Given the description of an element on the screen output the (x, y) to click on. 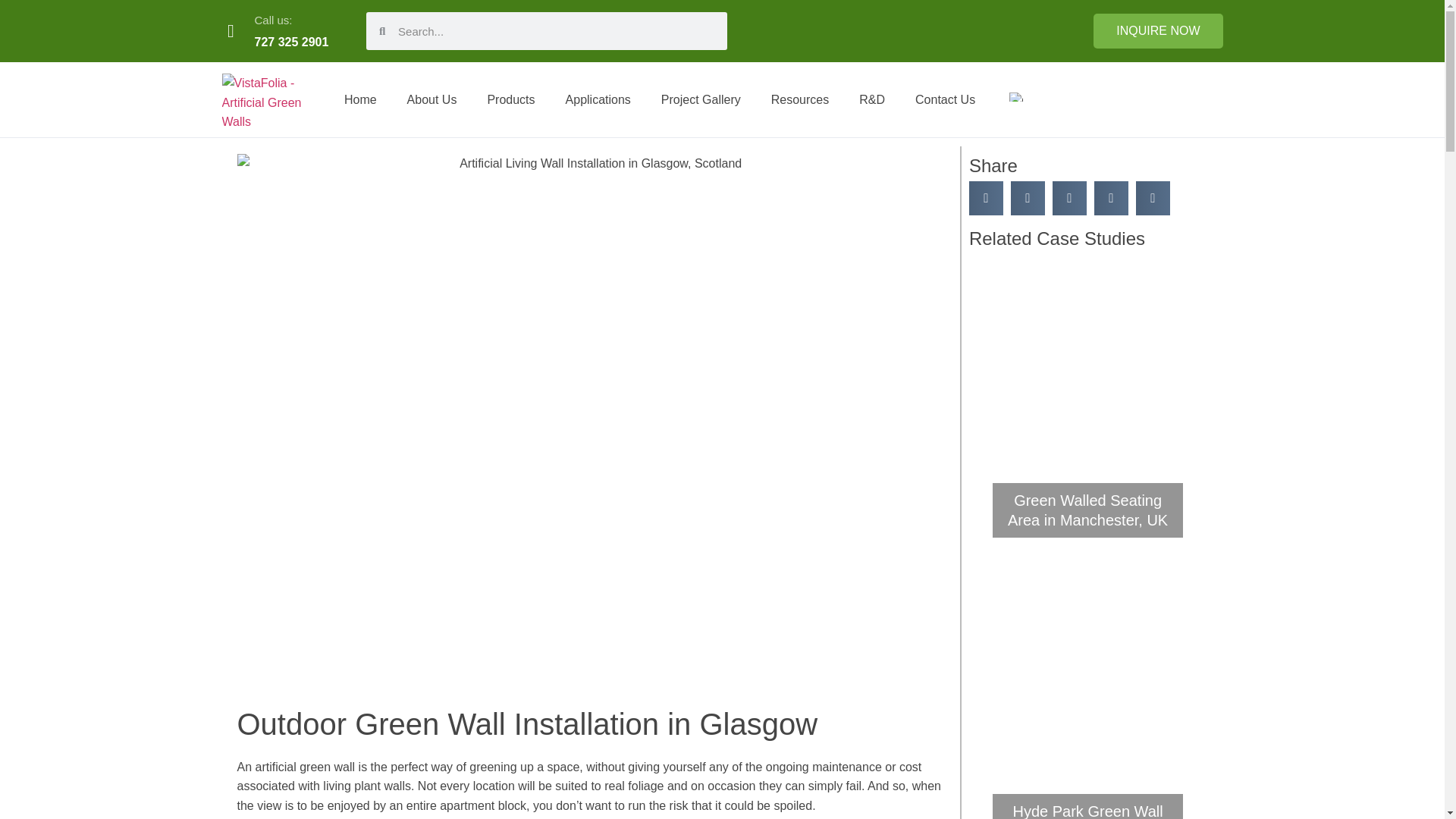
727 325 2901 (291, 42)
INQUIRE NOW (1158, 30)
Applications (598, 99)
About Us (431, 99)
Home (360, 99)
English (1016, 96)
Products (510, 99)
